Given the description of an element on the screen output the (x, y) to click on. 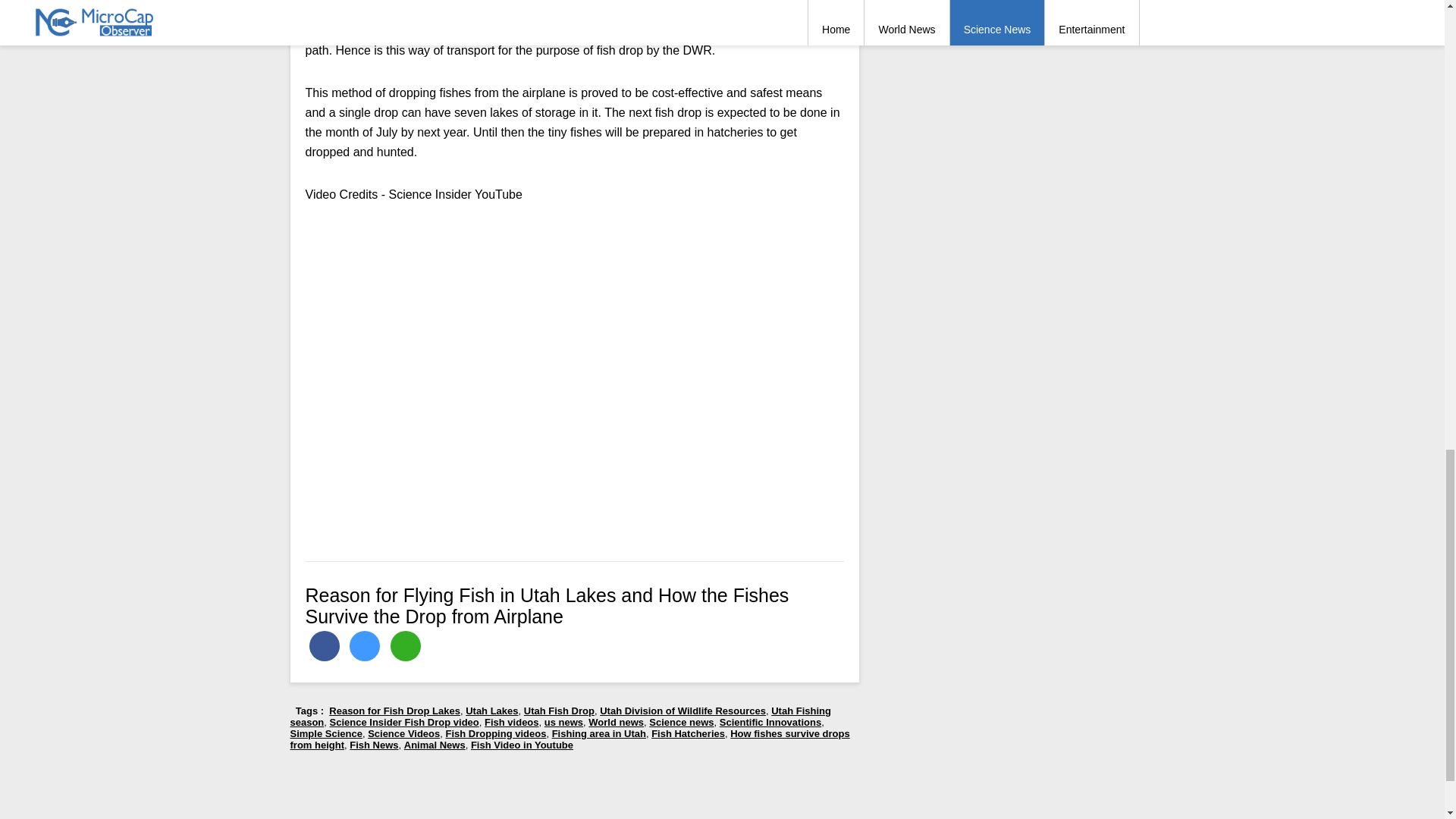
Utah Lakes (491, 710)
Fish videos (511, 722)
Utah Fish Drop (559, 710)
Reason for Fish Drop Lakes (394, 710)
Utah Division of Wildlife Resources (682, 710)
World news (615, 722)
Science news (681, 722)
us news (563, 722)
Science Insider Fish Drop video (404, 722)
Utah Fishing season (559, 716)
